Given the description of an element on the screen output the (x, y) to click on. 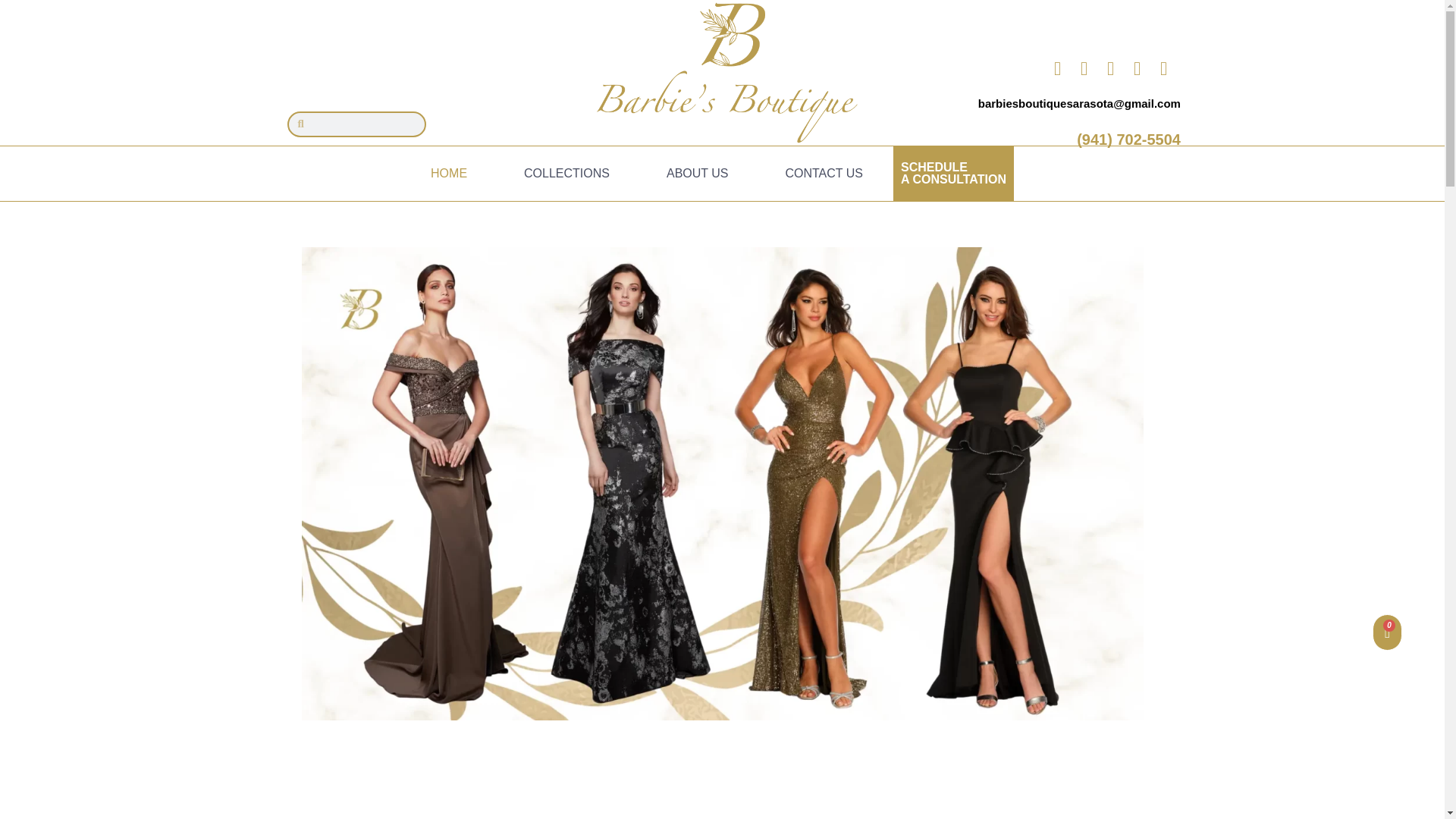
CONTACT US (823, 173)
ABOUT US (697, 173)
COLLECTIONS (567, 173)
